Given the description of an element on the screen output the (x, y) to click on. 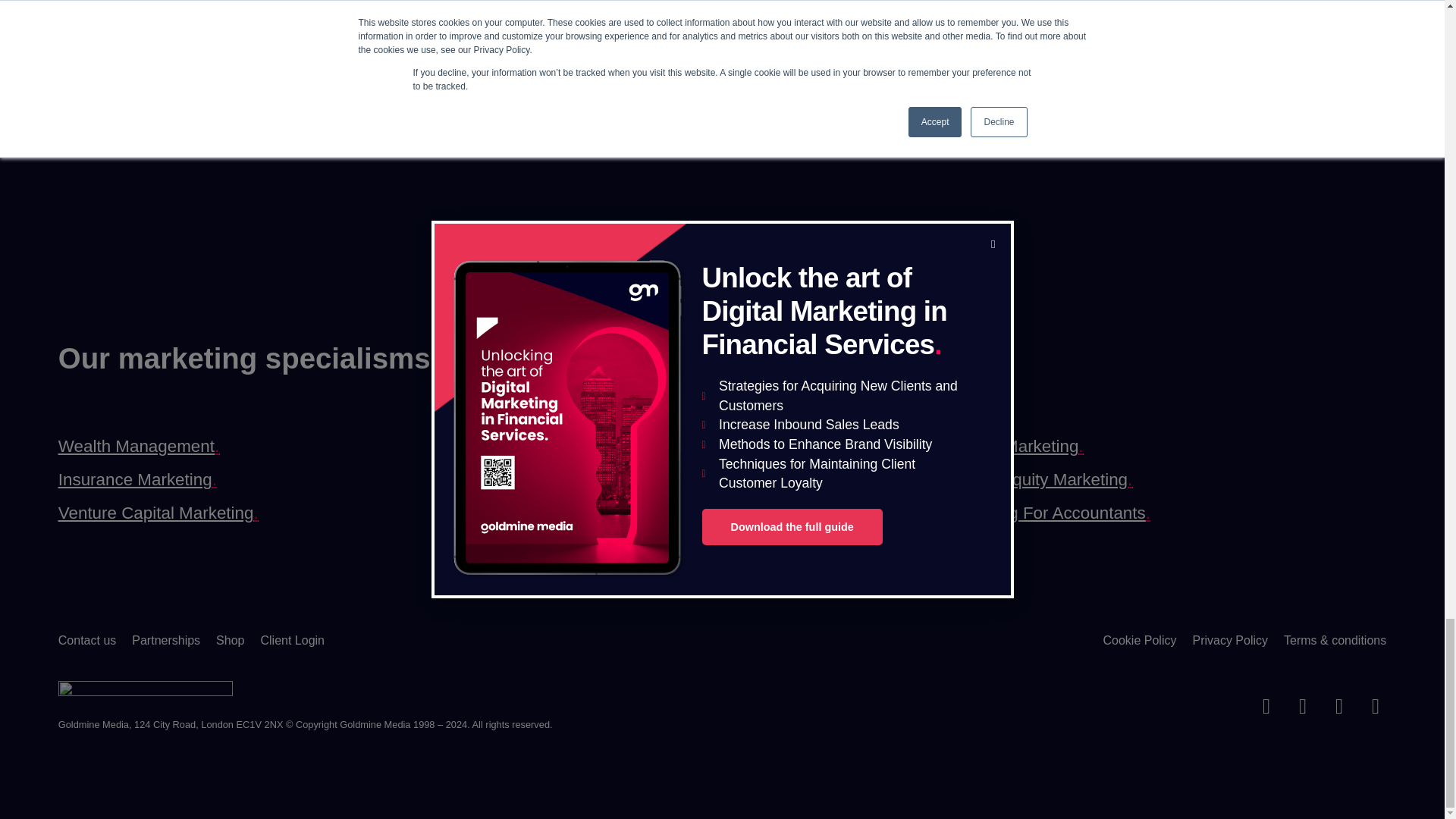
Form 0 (1090, 99)
0845 686 0055 (154, 92)
